Given the description of an element on the screen output the (x, y) to click on. 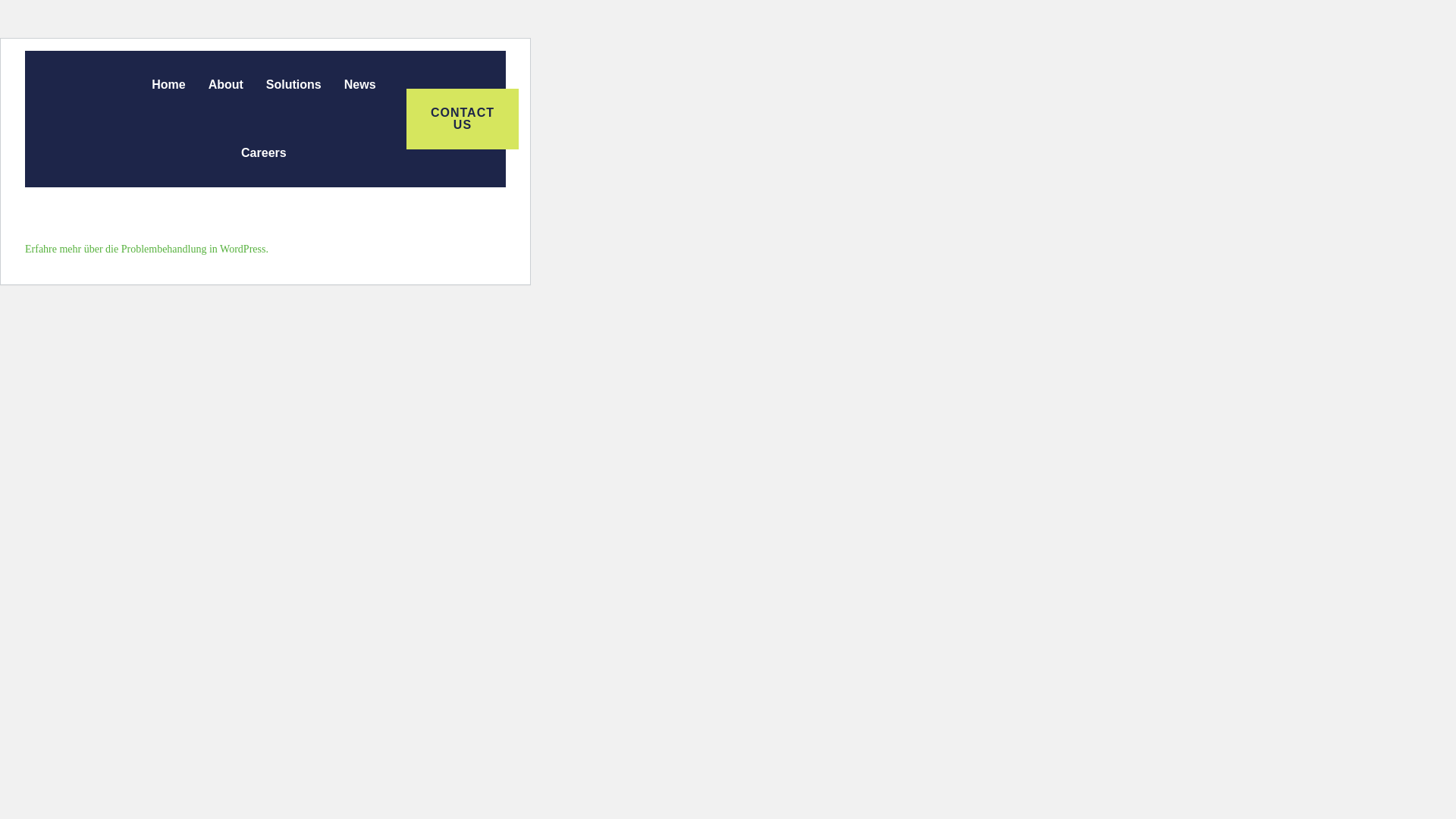
CONTACT US (462, 118)
Careers (264, 152)
Solutions (293, 84)
